Given the description of an element on the screen output the (x, y) to click on. 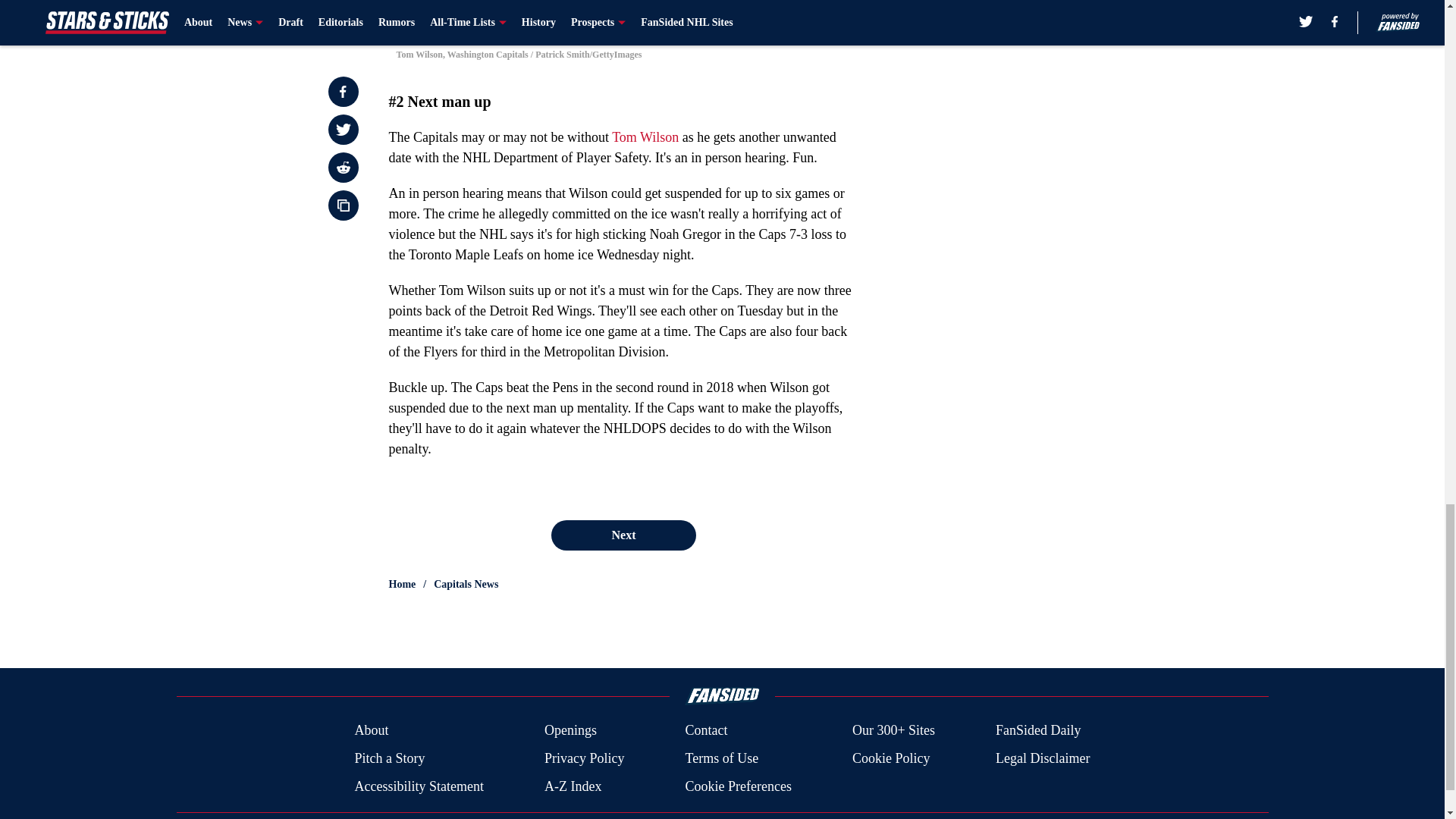
Next (622, 535)
Home (401, 584)
Tom Wilson (644, 136)
Capitals News (465, 584)
Openings (570, 730)
About (370, 730)
